Given the description of an element on the screen output the (x, y) to click on. 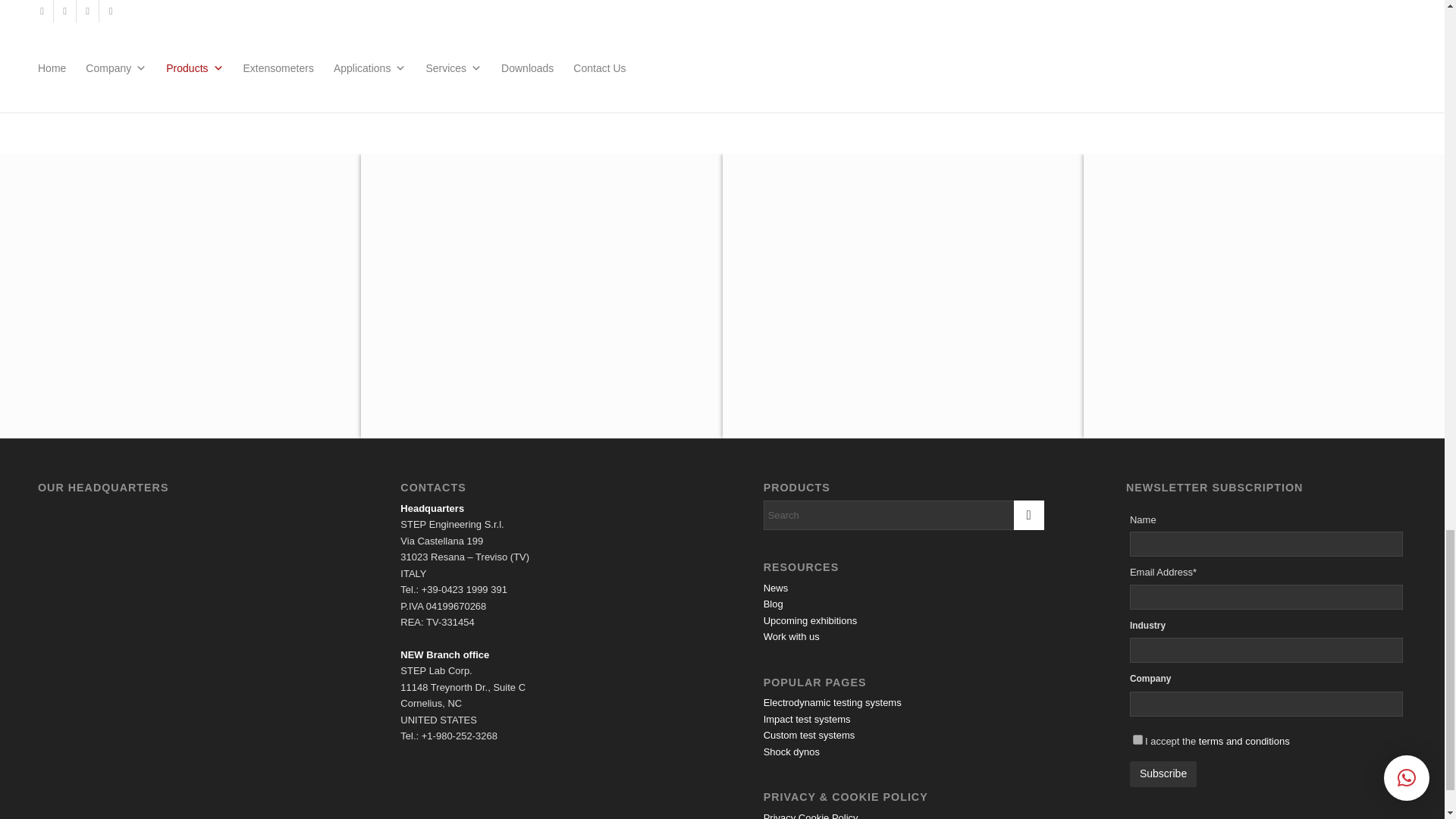
Click to start search (1028, 514)
Subscribe (1162, 774)
on (1137, 739)
